Given the description of an element on the screen output the (x, y) to click on. 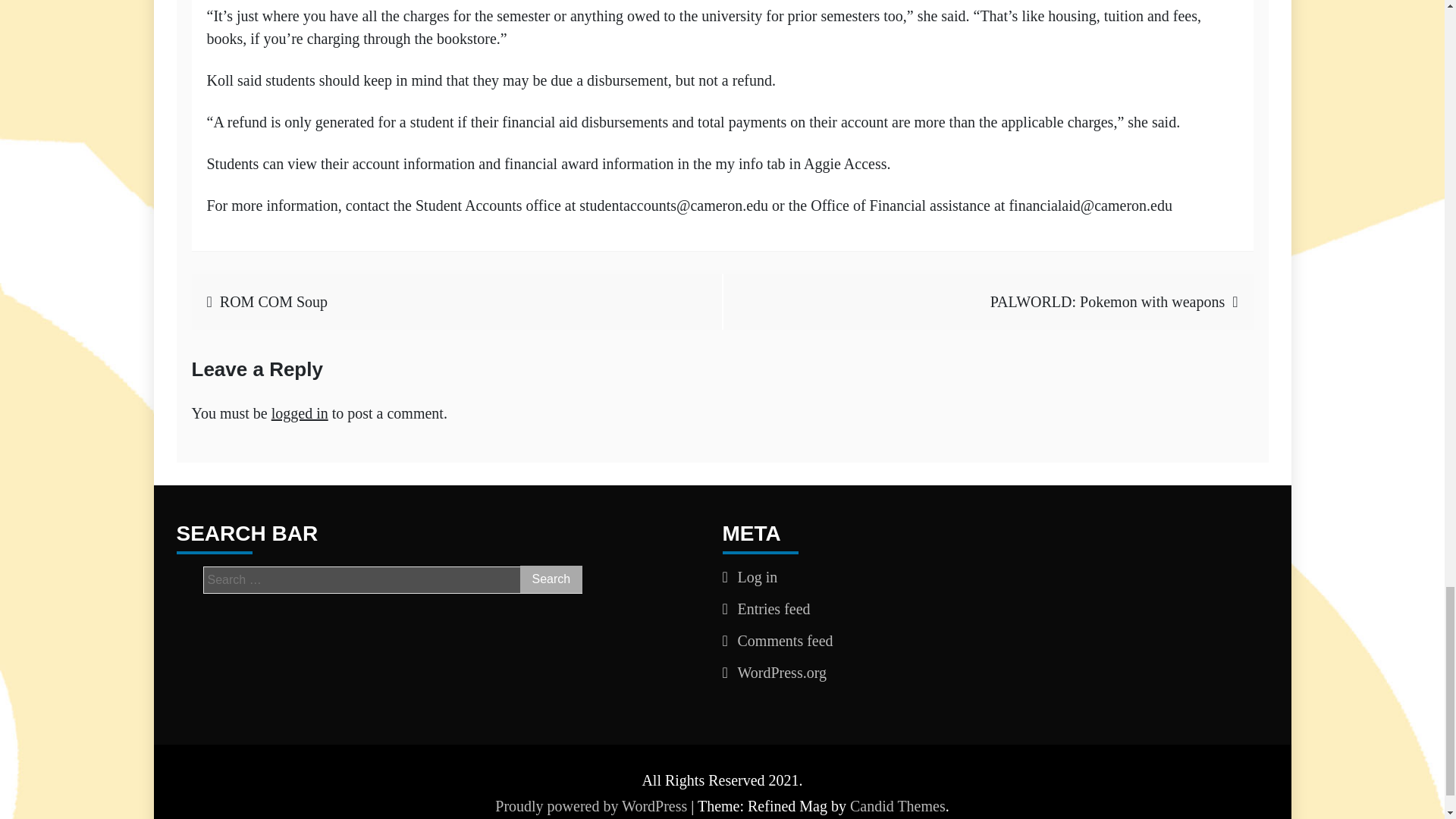
Search (550, 578)
Search (550, 578)
